Given the description of an element on the screen output the (x, y) to click on. 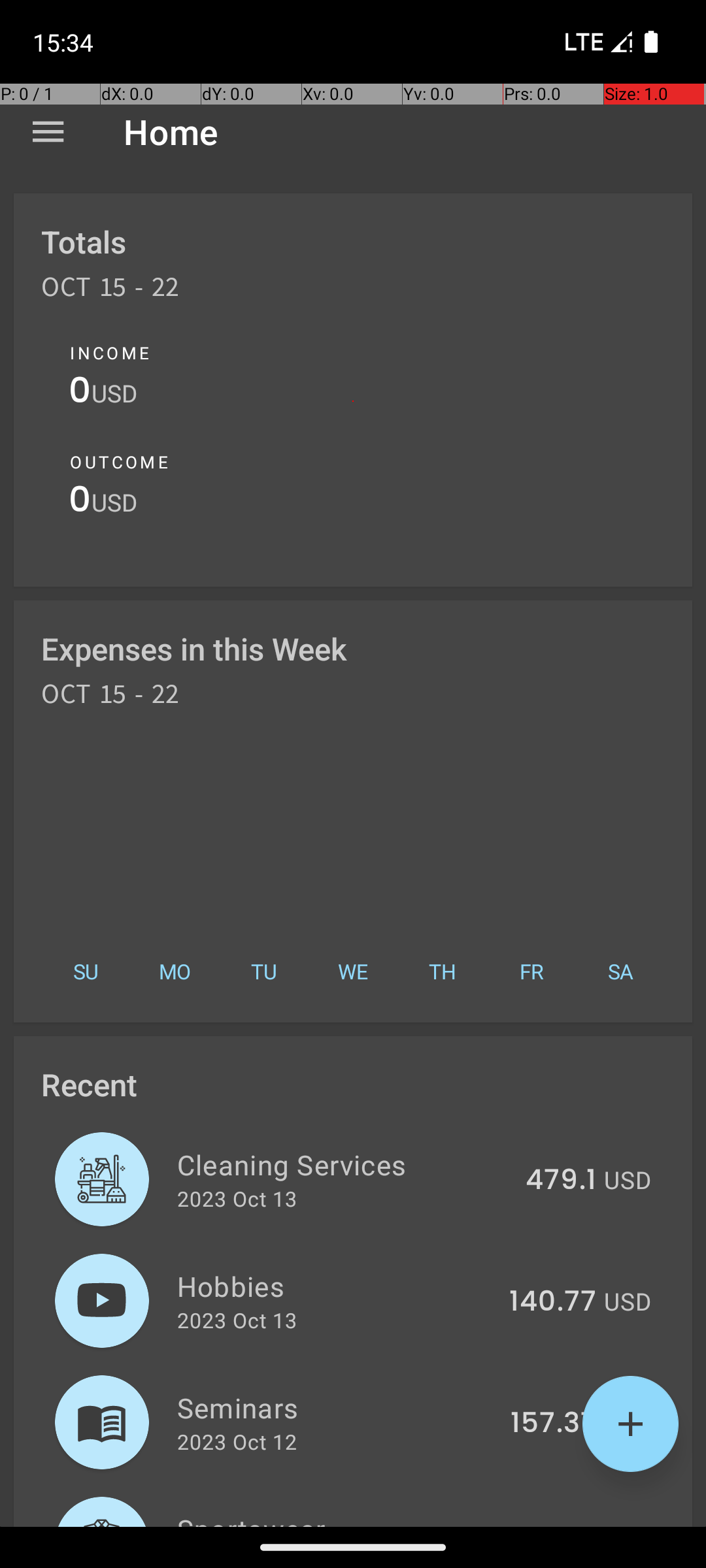
Cleaning Services Element type: android.widget.TextView (343, 1164)
479.1 Element type: android.widget.TextView (560, 1180)
Hobbies Element type: android.widget.TextView (335, 1285)
140.77 Element type: android.widget.TextView (552, 1301)
Seminars Element type: android.widget.TextView (336, 1407)
2023 Oct 12 Element type: android.widget.TextView (236, 1441)
157.37 Element type: android.widget.TextView (552, 1423)
Sportswear Element type: android.widget.TextView (334, 1518)
441.24 Element type: android.widget.TextView (551, 1524)
